Given the description of an element on the screen output the (x, y) to click on. 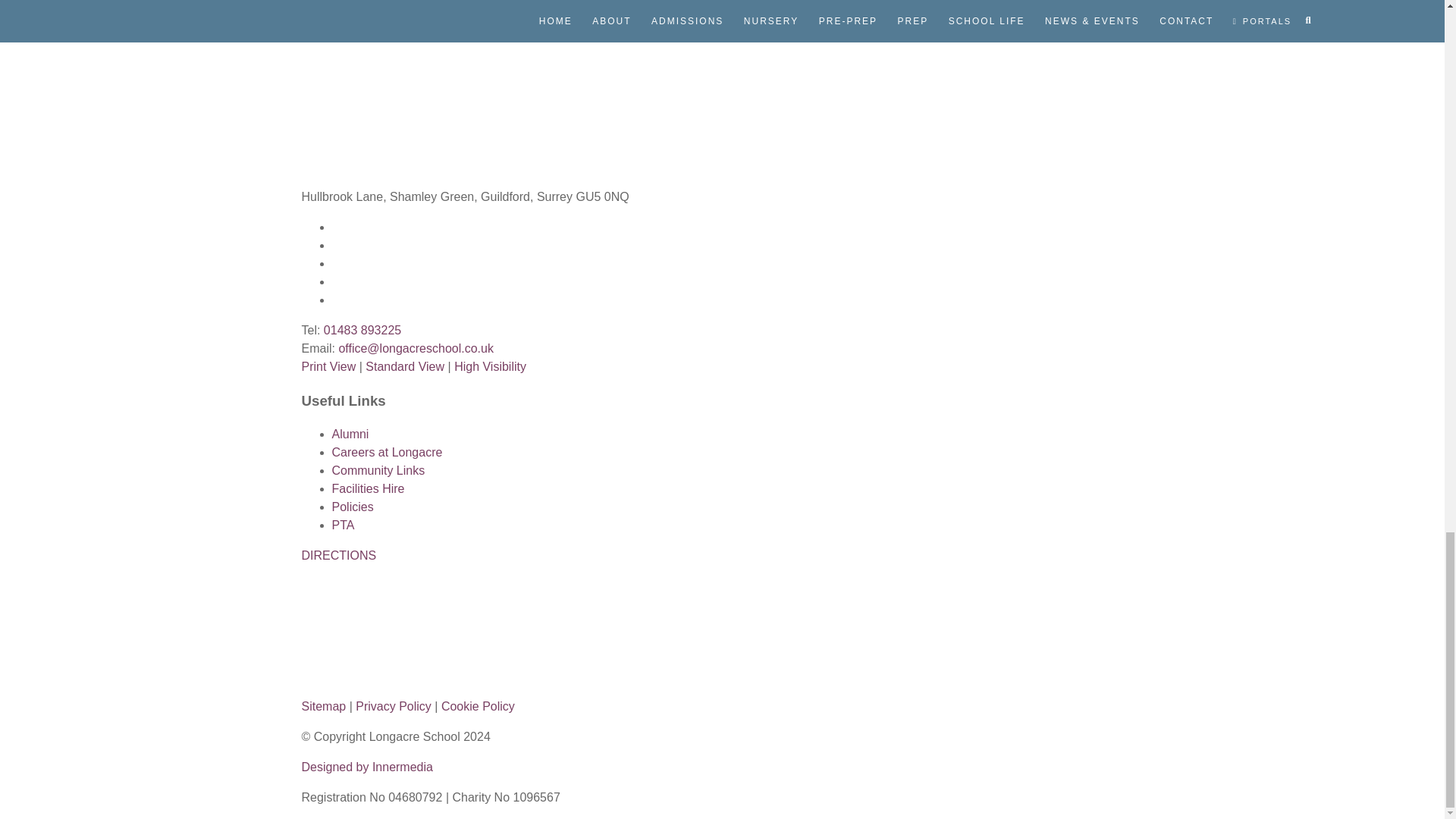
Switch to High Visibility (489, 366)
Switch to Print (328, 366)
Switch to Standard Visibility (404, 366)
